Given the description of an element on the screen output the (x, y) to click on. 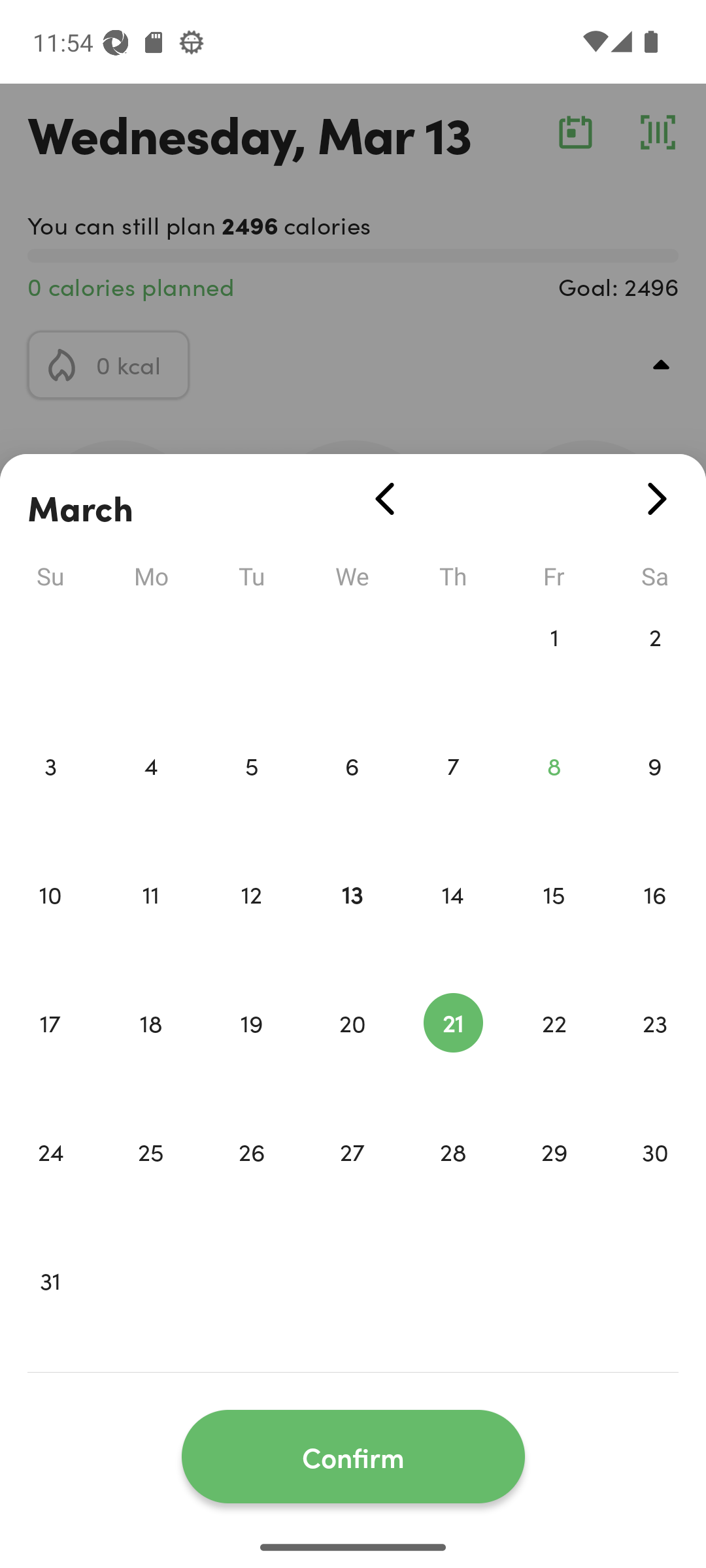
1 (554, 663)
2 (655, 663)
3 (50, 793)
4 (150, 793)
5 (251, 793)
6 (352, 793)
7 (453, 793)
8 (554, 793)
9 (655, 793)
10 (50, 921)
11 (150, 921)
12 (251, 921)
13 (352, 921)
14 (453, 921)
15 (554, 921)
16 (655, 921)
17 (50, 1050)
18 (150, 1050)
19 (251, 1050)
20 (352, 1050)
21 (453, 1050)
22 (554, 1050)
23 (655, 1050)
24 (50, 1178)
25 (150, 1178)
26 (251, 1178)
27 (352, 1178)
28 (453, 1178)
29 (554, 1178)
30 (655, 1178)
31 (50, 1307)
Confirm (353, 1456)
